Given the description of an element on the screen output the (x, y) to click on. 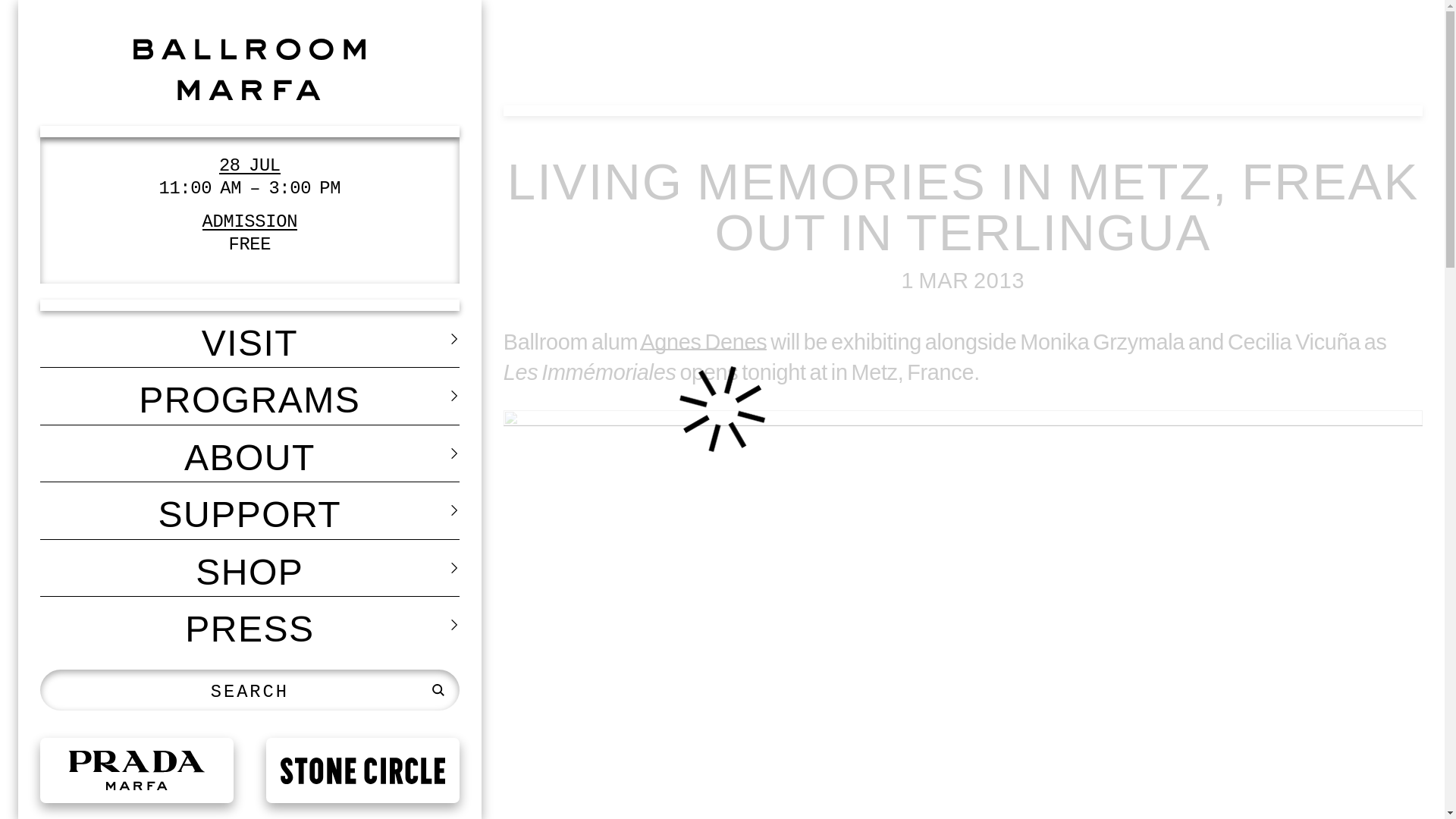
SUPPORT (250, 510)
PROGRAMS (250, 396)
Ballroom Marfa (250, 69)
ABOUT (250, 453)
VISIT (250, 339)
